Given the description of an element on the screen output the (x, y) to click on. 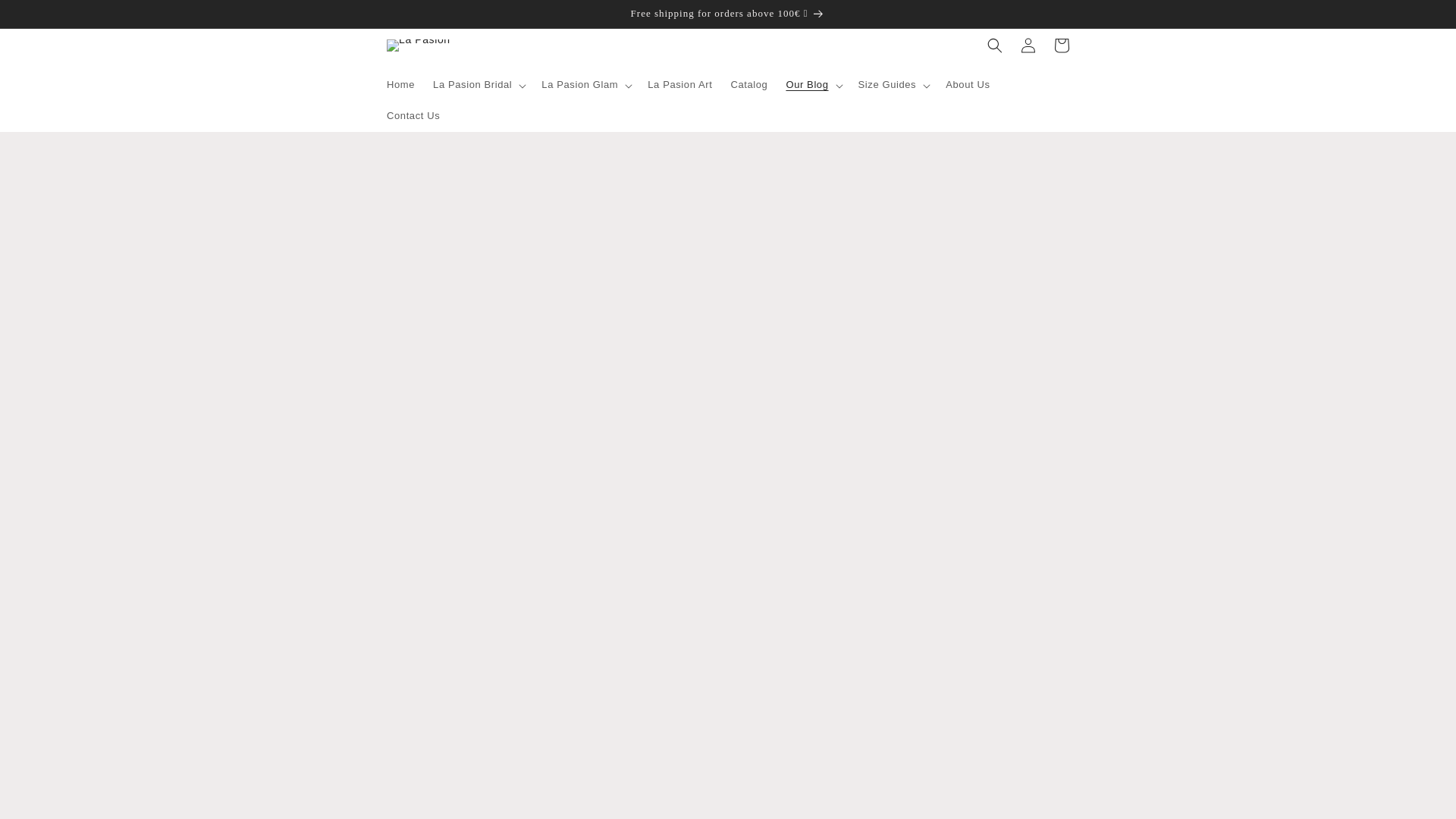
Home (400, 84)
Ir directamente al contenido (45, 17)
